Given the description of an element on the screen output the (x, y) to click on. 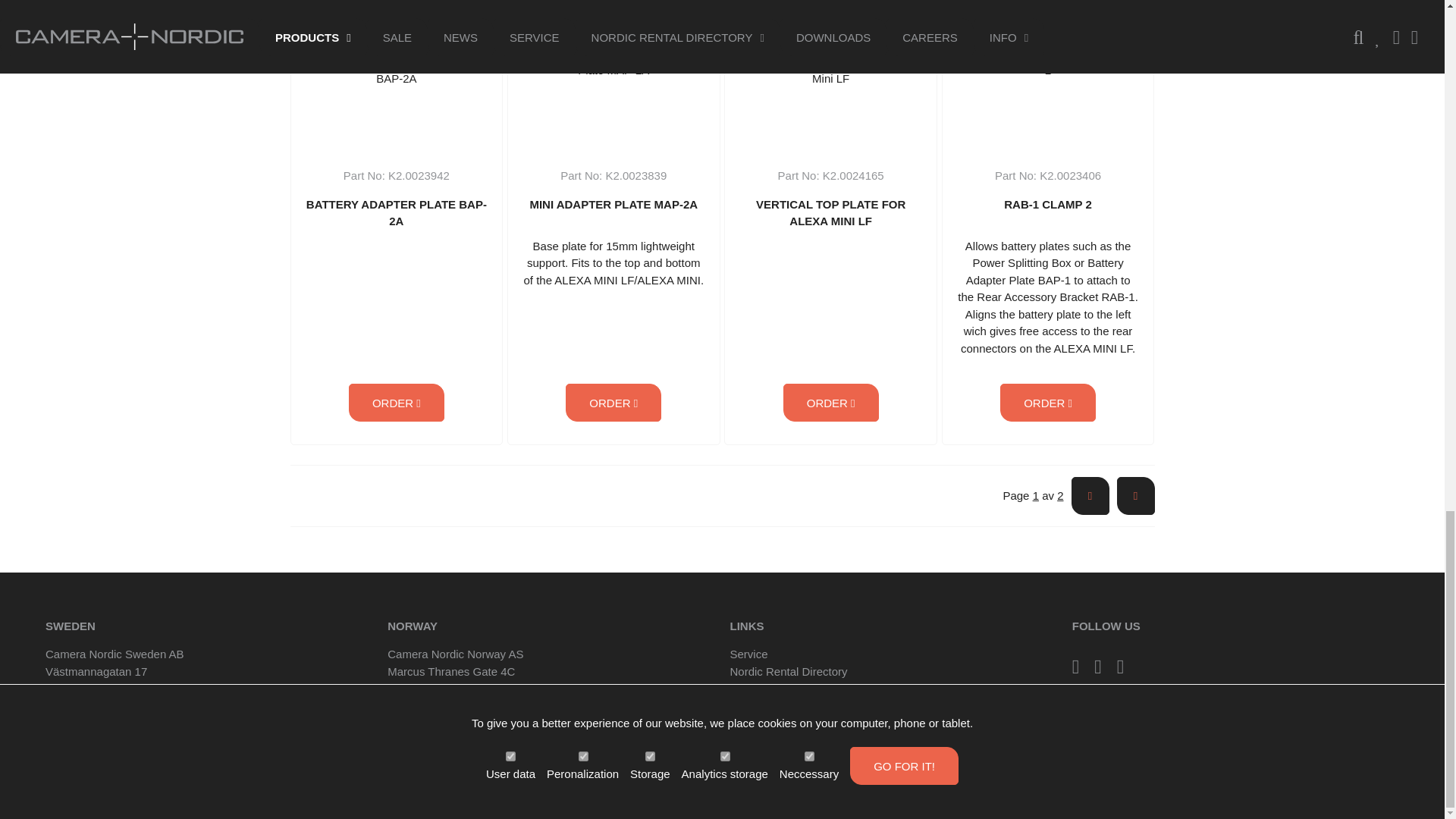
Vertical Top plate for ALEXA Mini LF (831, 61)
Battery Adapter Plate BAP-2A (395, 61)
RAB-1 Clamp 2 (1048, 61)
Mini Adapter Plate MAP-2A (614, 61)
